Given the description of an element on the screen output the (x, y) to click on. 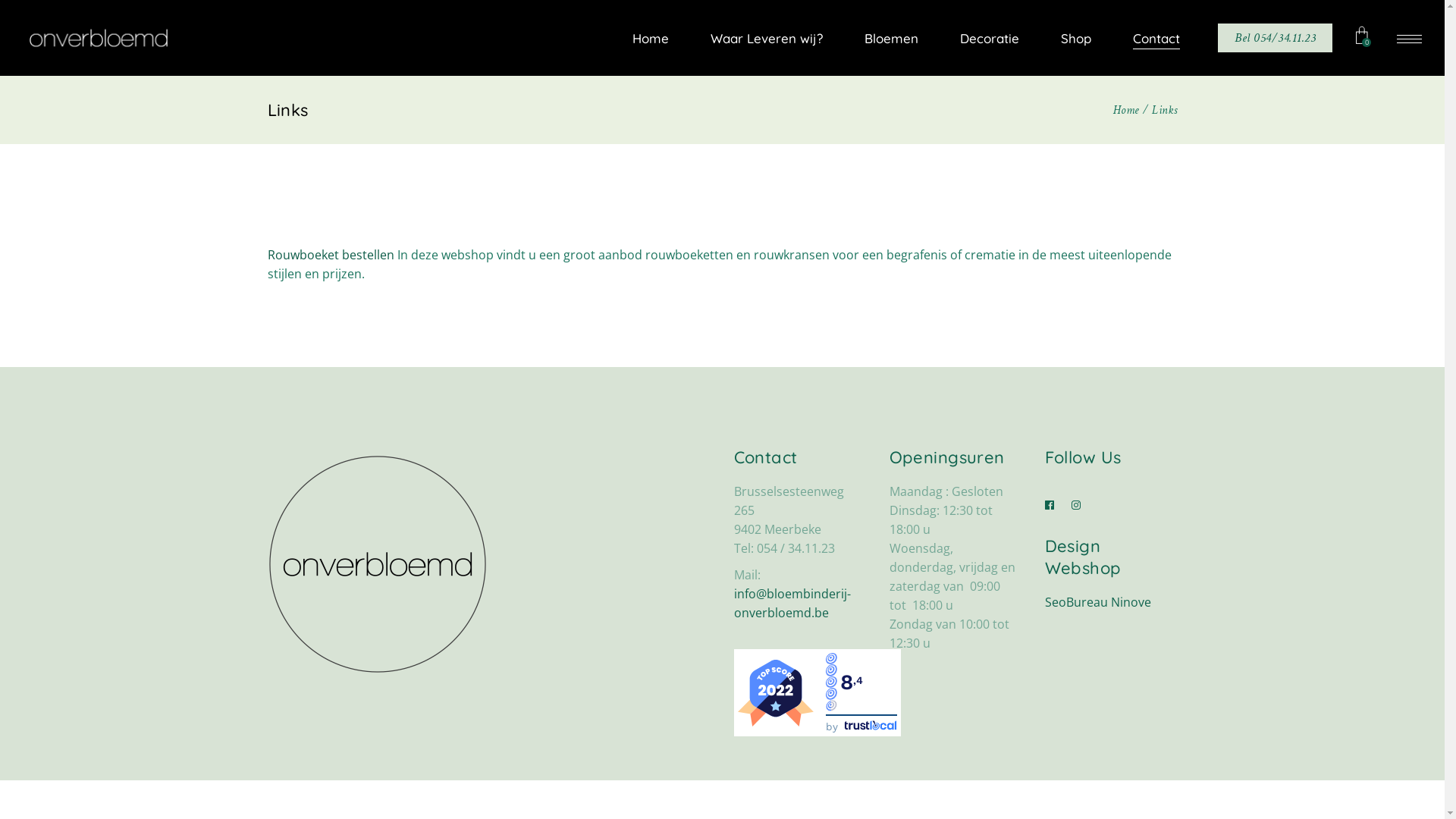
0 Element type: text (1366, 37)
Home Element type: text (1126, 110)
Bel 054/34.11.23 Element type: text (1274, 37)
Decoratie Element type: text (986, 37)
Waar Leveren wij? Element type: text (763, 37)
Contact Element type: text (1153, 37)
Shop Element type: text (1073, 37)
Rouwboeket bestellen Element type: text (329, 254)
info@bloembinderij-onverbloemd.be Element type: text (792, 603)
Home Element type: text (647, 37)
Bloemen Element type: text (888, 37)
SeoBureau Ninove Element type: text (1097, 601)
